Given the description of an element on the screen output the (x, y) to click on. 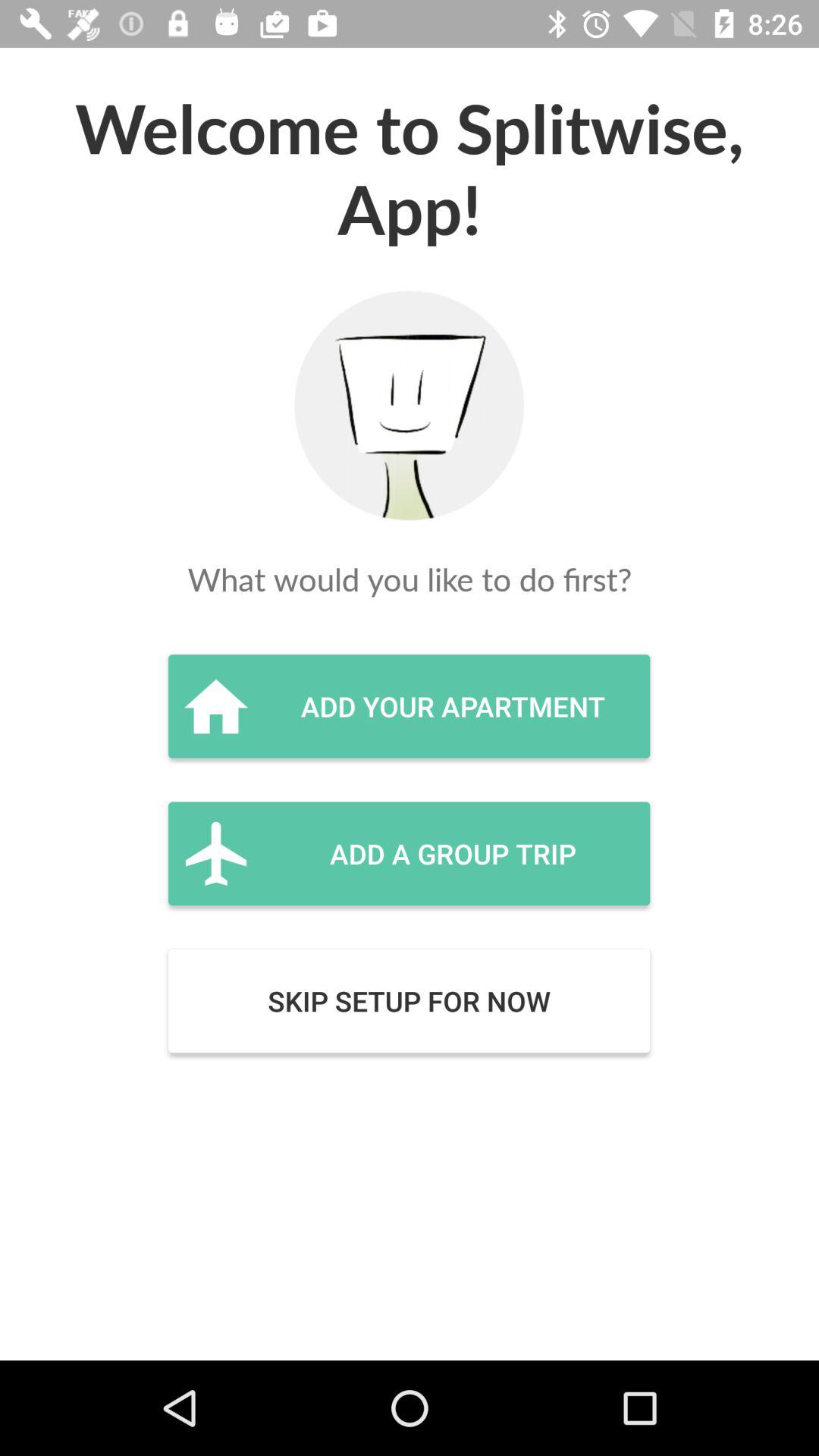
turn on item above the add a group (409, 706)
